Given the description of an element on the screen output the (x, y) to click on. 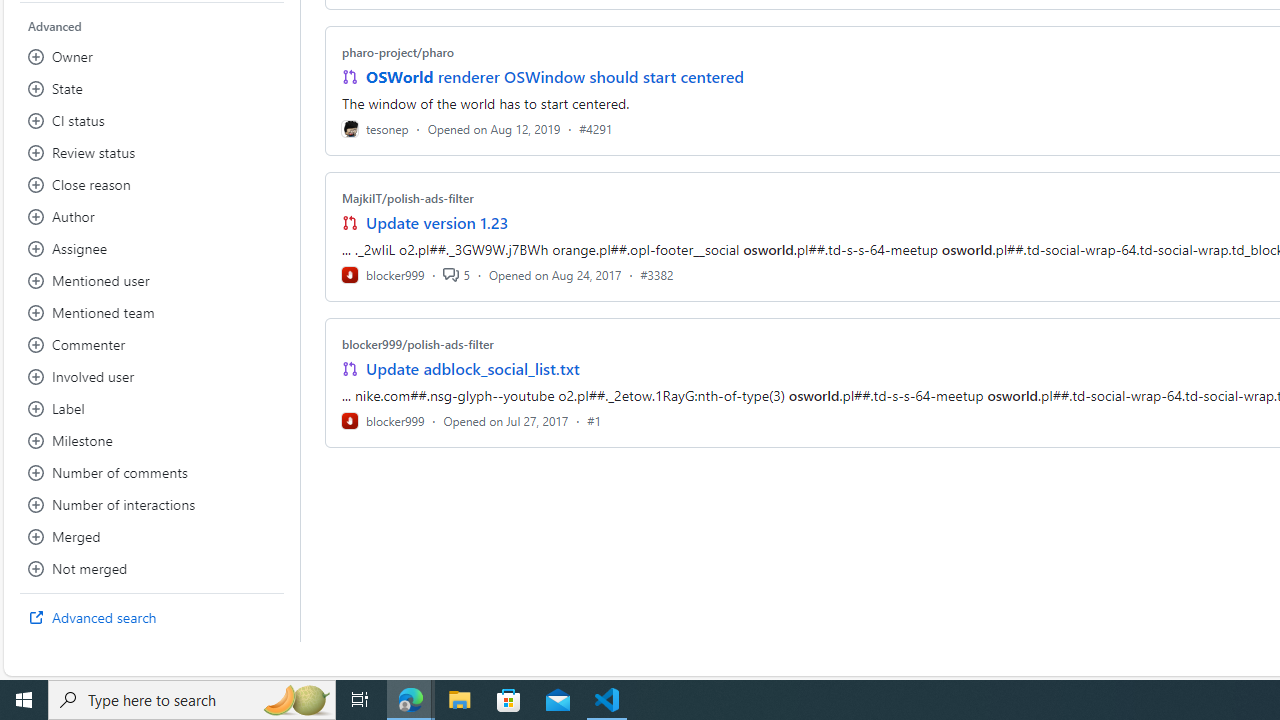
#4291 (595, 128)
pharo-project/pharo (397, 52)
Update version 1.23 (437, 222)
#1 (594, 420)
Update adblock_social_list.txt (472, 368)
#3382 (657, 273)
